Given the description of an element on the screen output the (x, y) to click on. 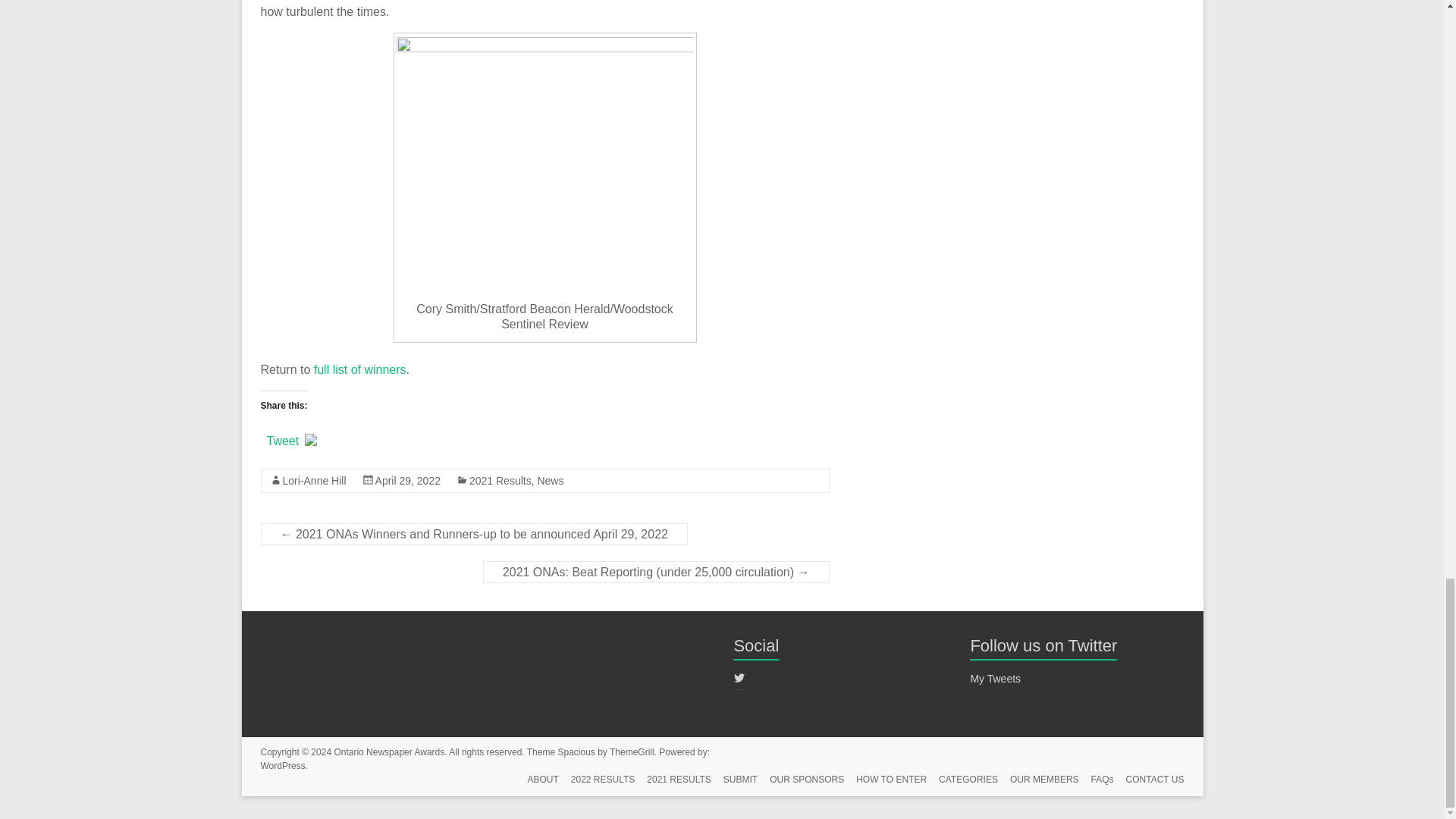
2021 Results (499, 480)
2022 RESULTS (596, 780)
Tweet (282, 440)
Lori-Anne Hill (314, 480)
SUBMIT (734, 780)
Spacious (575, 751)
2021 RESULTS (672, 780)
My Tweets (994, 678)
Ontario Newspaper Awards (388, 751)
full list of winners (360, 369)
